Given the description of an element on the screen output the (x, y) to click on. 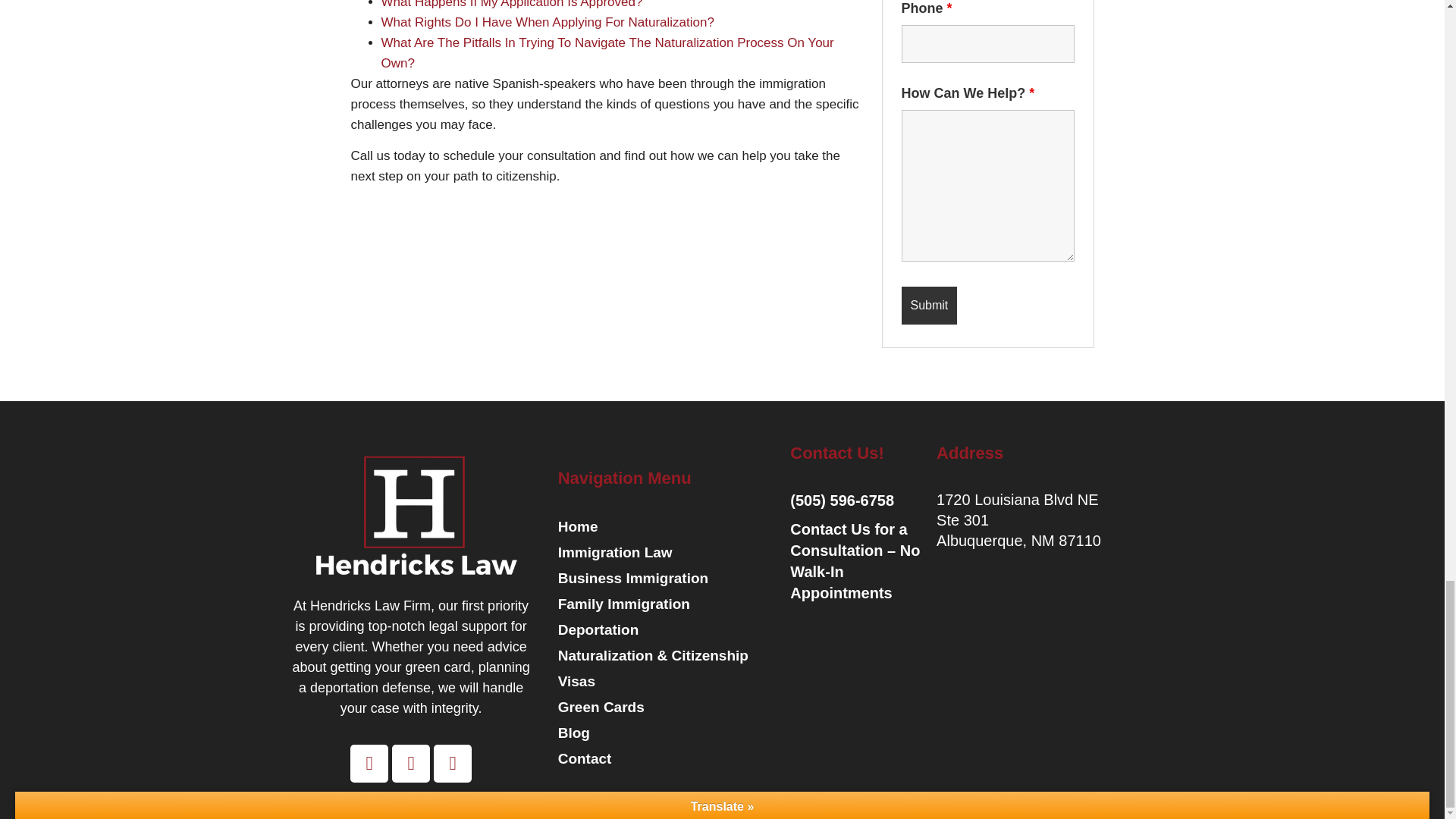
1720 Louisiana Blvd NE Albuquerque, NM 87110 (965, 708)
Submit (928, 305)
